Given the description of an element on the screen output the (x, y) to click on. 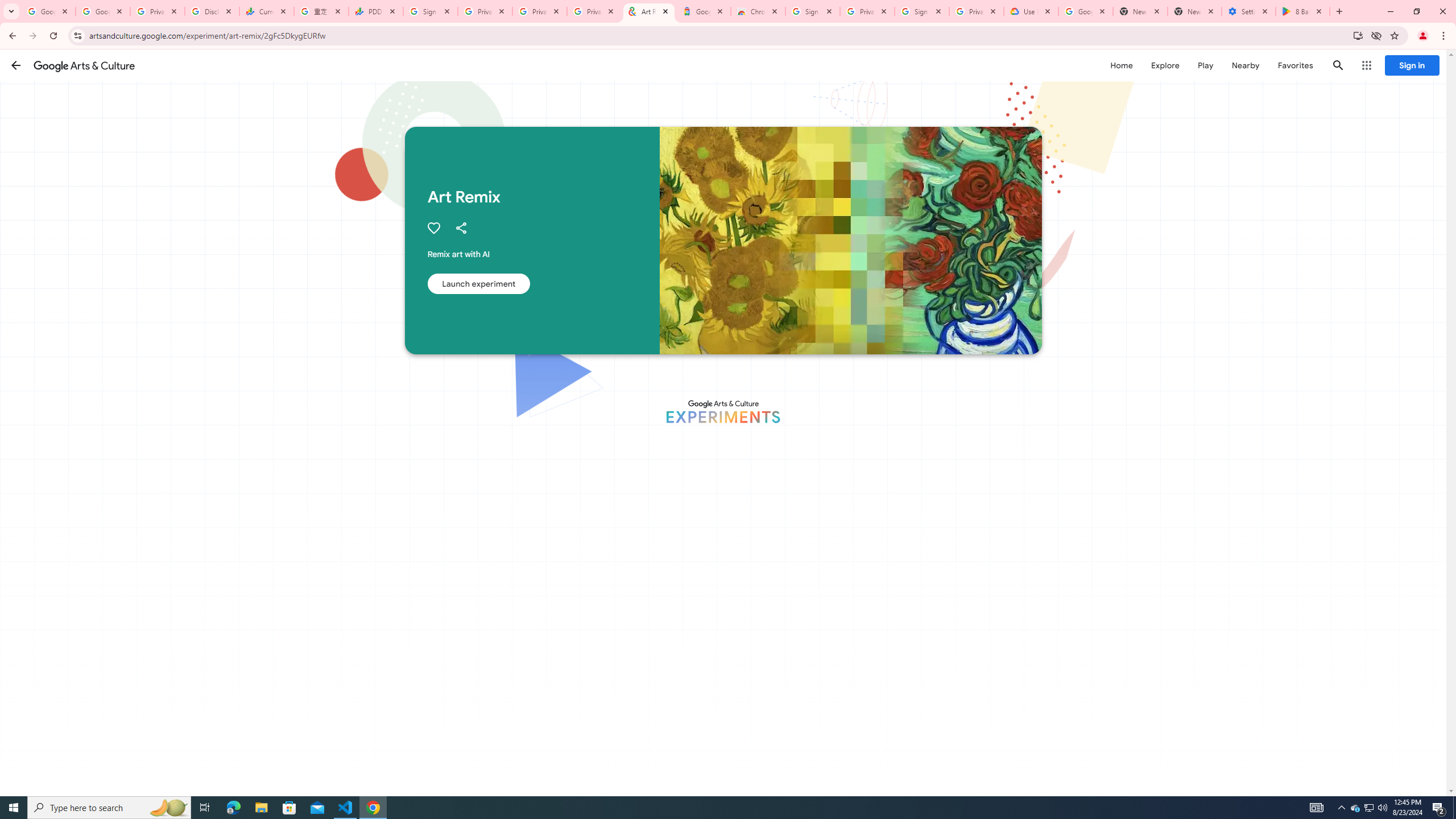
AutomationID: animation-canvas (531, 422)
Install Google Arts & Culture (1358, 35)
Google Workspace Admin Community (48, 11)
Share "Art Remix" (460, 227)
New Tab (1194, 11)
Settings - System (1249, 11)
Privacy Checkup (594, 11)
Go to Arts & Culture (807, 467)
Home (1120, 65)
